Given the description of an element on the screen output the (x, y) to click on. 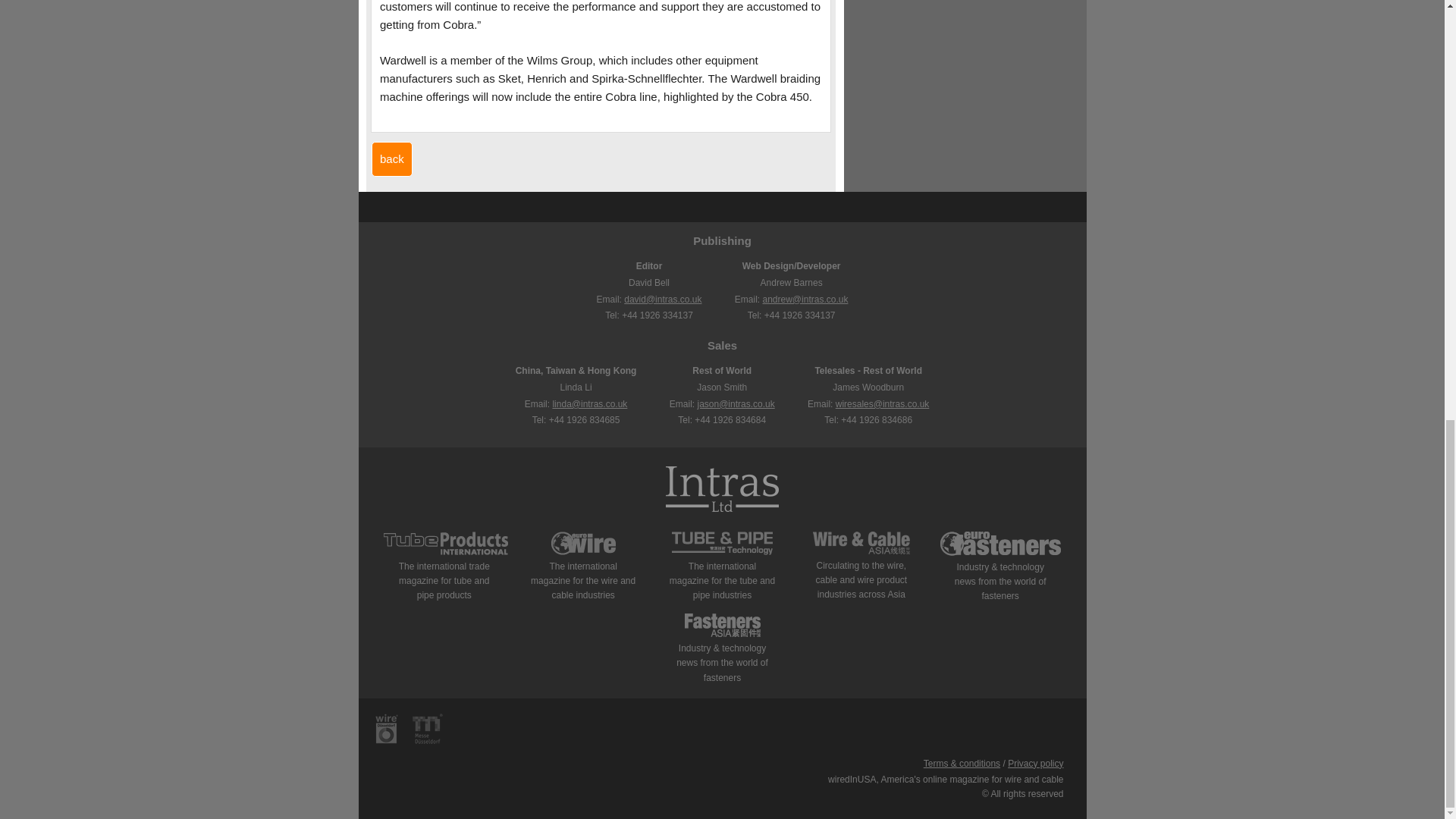
back (391, 158)
EuroWire website (583, 552)
TPI website (446, 552)
Intras website (721, 491)
Fasteners Asia website (722, 633)
TPT website (722, 552)
WCA website (861, 551)
Euro Fasteners website (1000, 552)
